Given the description of an element on the screen output the (x, y) to click on. 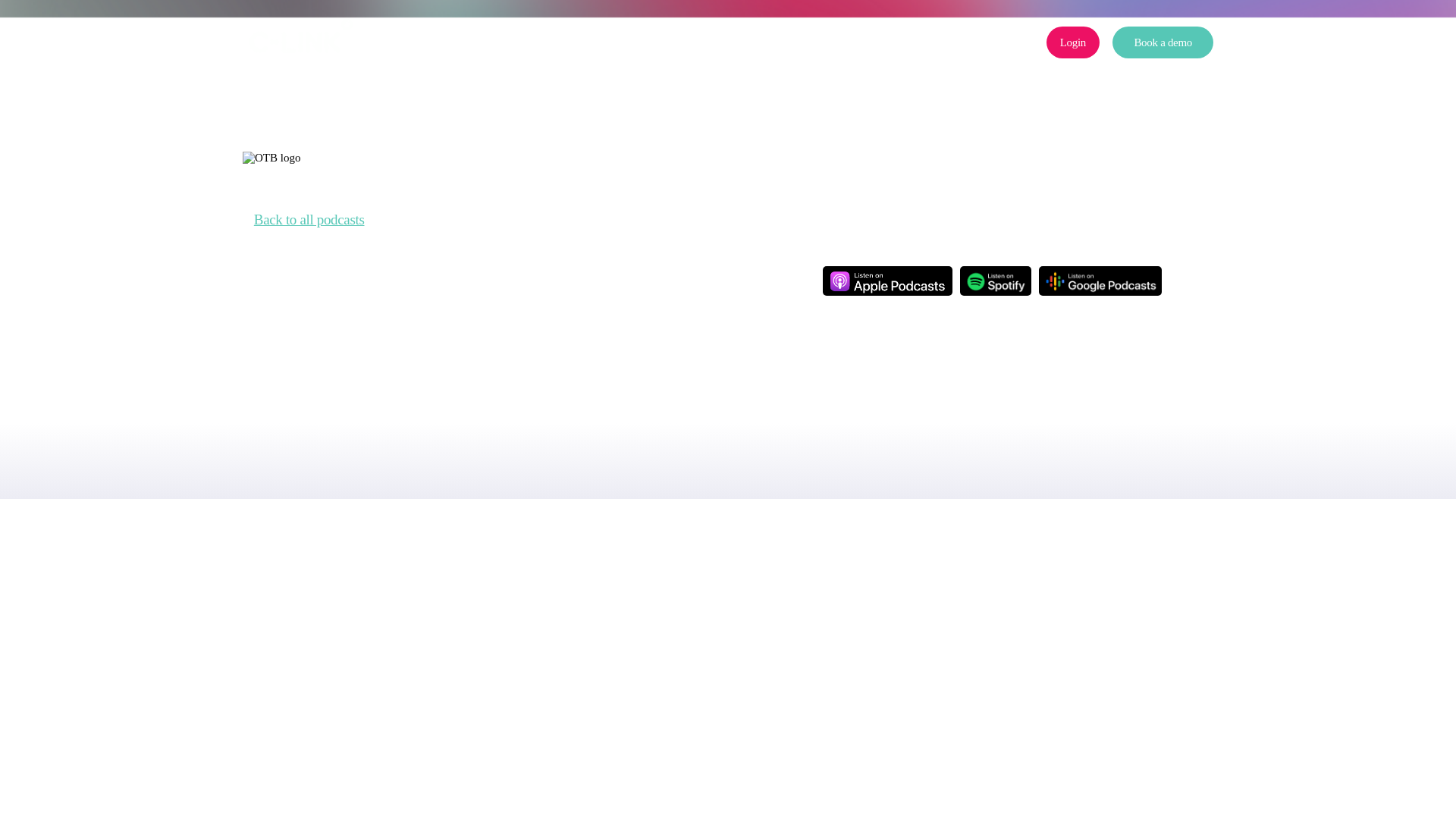
Contact (891, 42)
Case Studies (627, 42)
OTB (717, 42)
Book a demo (1162, 42)
Products (528, 42)
Resources (801, 42)
Login (1072, 42)
